Given the description of an element on the screen output the (x, y) to click on. 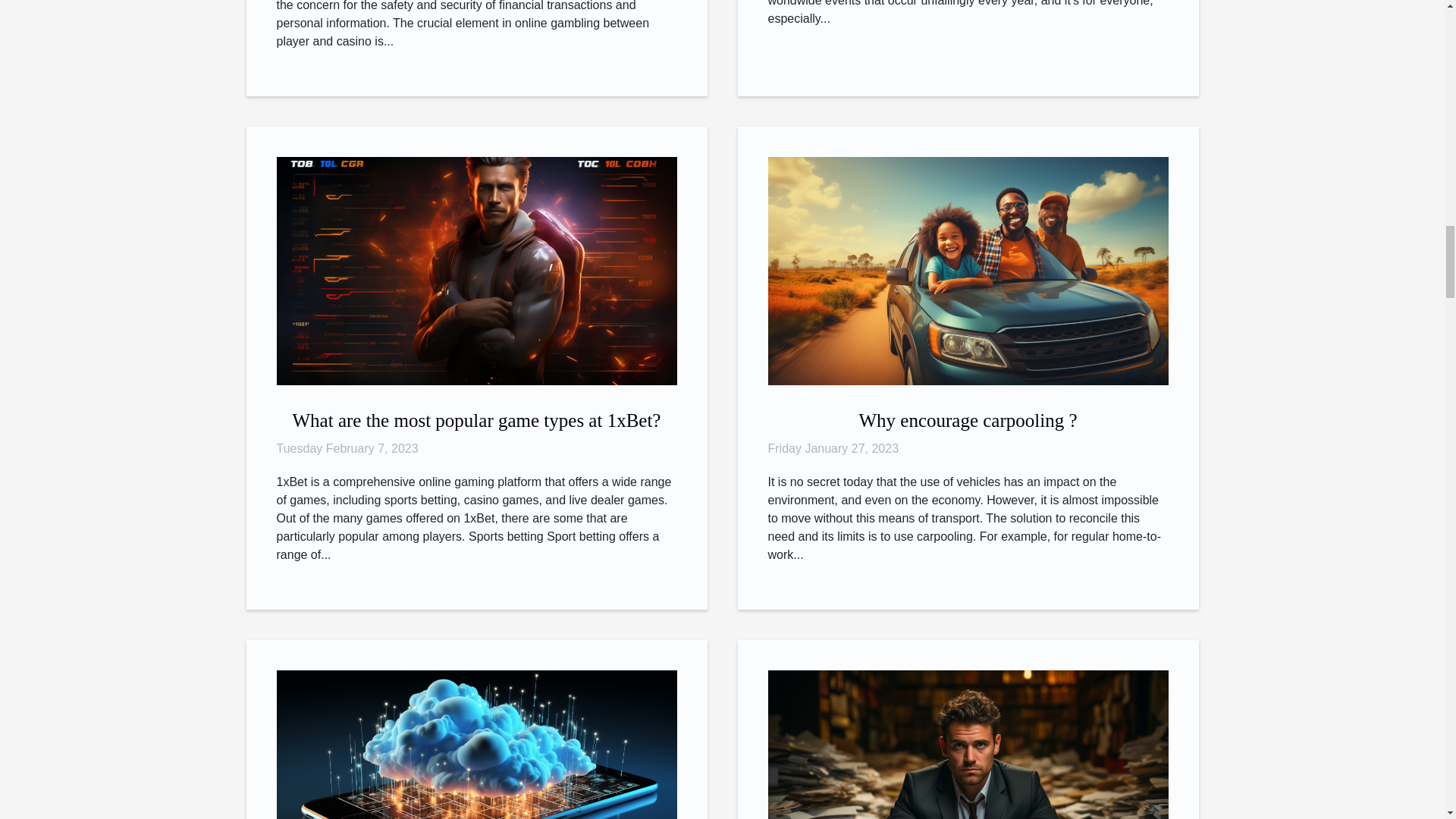
Why encourage carpooling ? (967, 269)
Why encourage carpooling ? (968, 420)
What are the most popular game types at 1xBet? (476, 420)
Essentials to know about cloud phone SMS (476, 783)
What are the most popular game types at 1xBet? (476, 269)
Why encourage carpooling ? (968, 420)
What are the most popular game types at 1xBet? (476, 420)
